Given the description of an element on the screen output the (x, y) to click on. 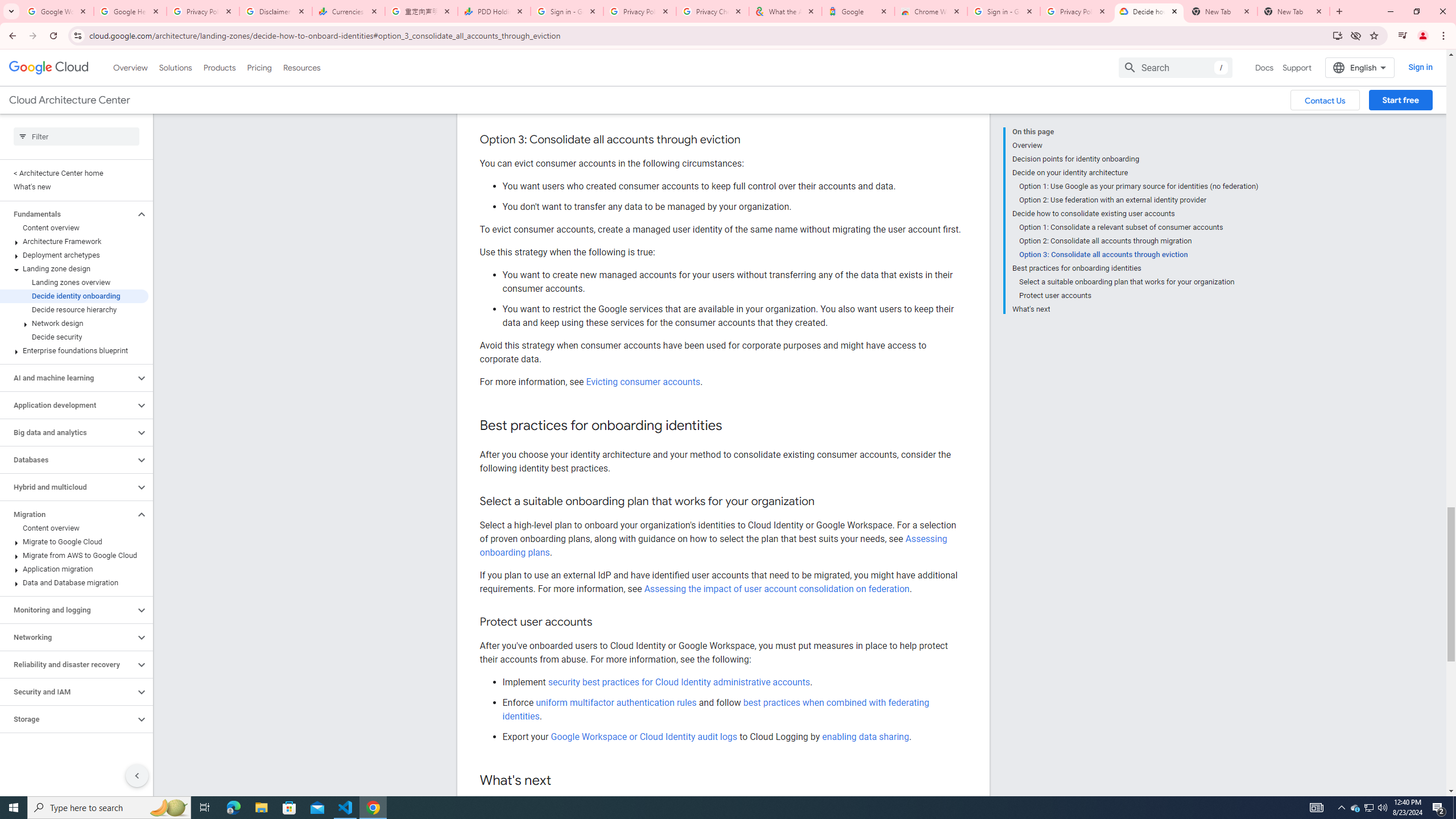
Decide on your identity architecture (1134, 172)
Security and IAM (67, 691)
Application development (67, 404)
Decide identity onboarding (74, 296)
Google Cloud (48, 67)
PDD Holdings Inc - ADR (PDD) Price & News - Google Finance (493, 11)
Option 3: Consolidate all accounts through eviction (1138, 254)
What's new (74, 187)
Currencies - Google Finance (348, 11)
enabling data sharing (865, 736)
